Given the description of an element on the screen output the (x, y) to click on. 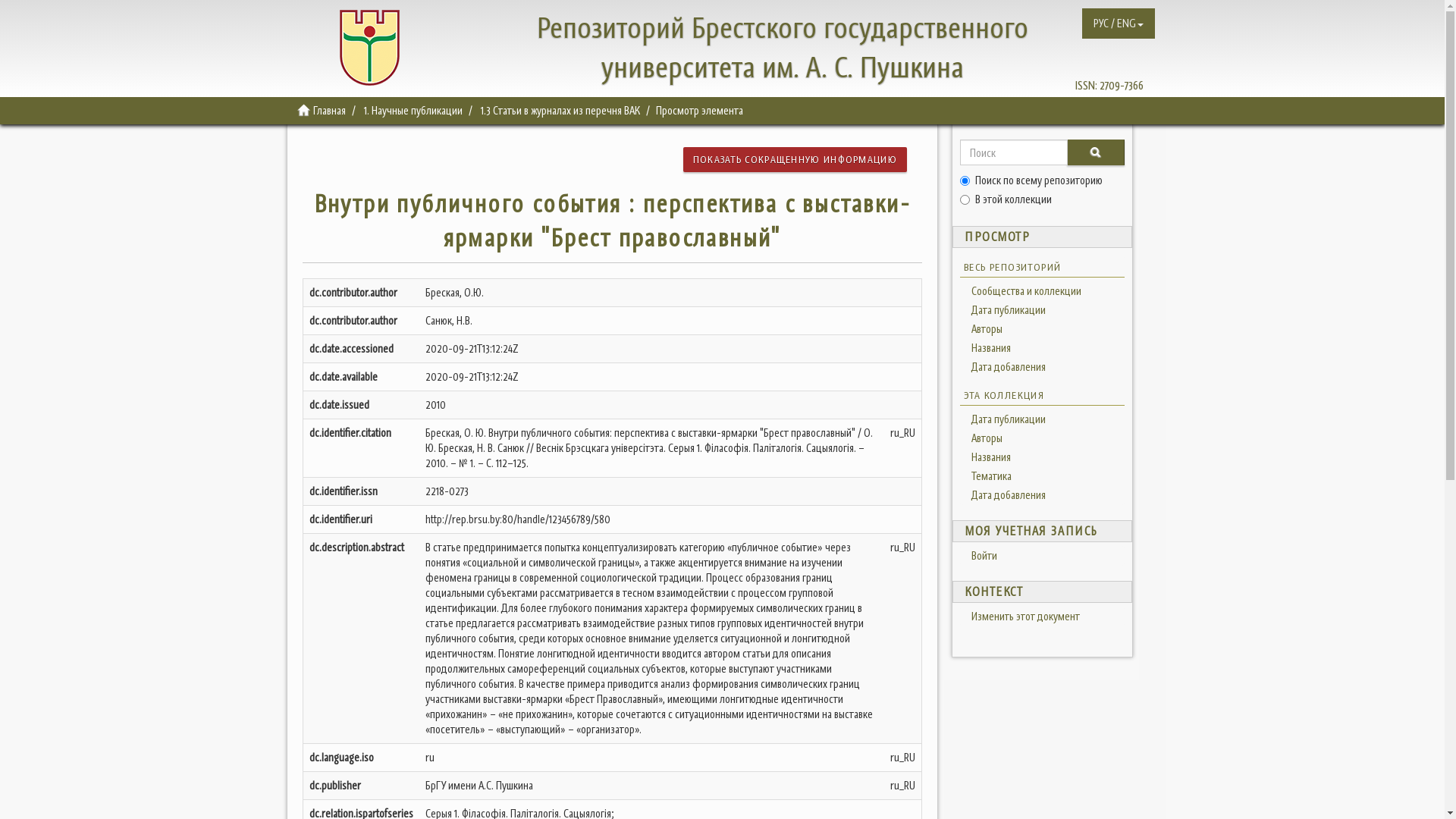
Ok Element type: hover (1095, 152)
2709-7366 Element type: text (1121, 85)
